Given the description of an element on the screen output the (x, y) to click on. 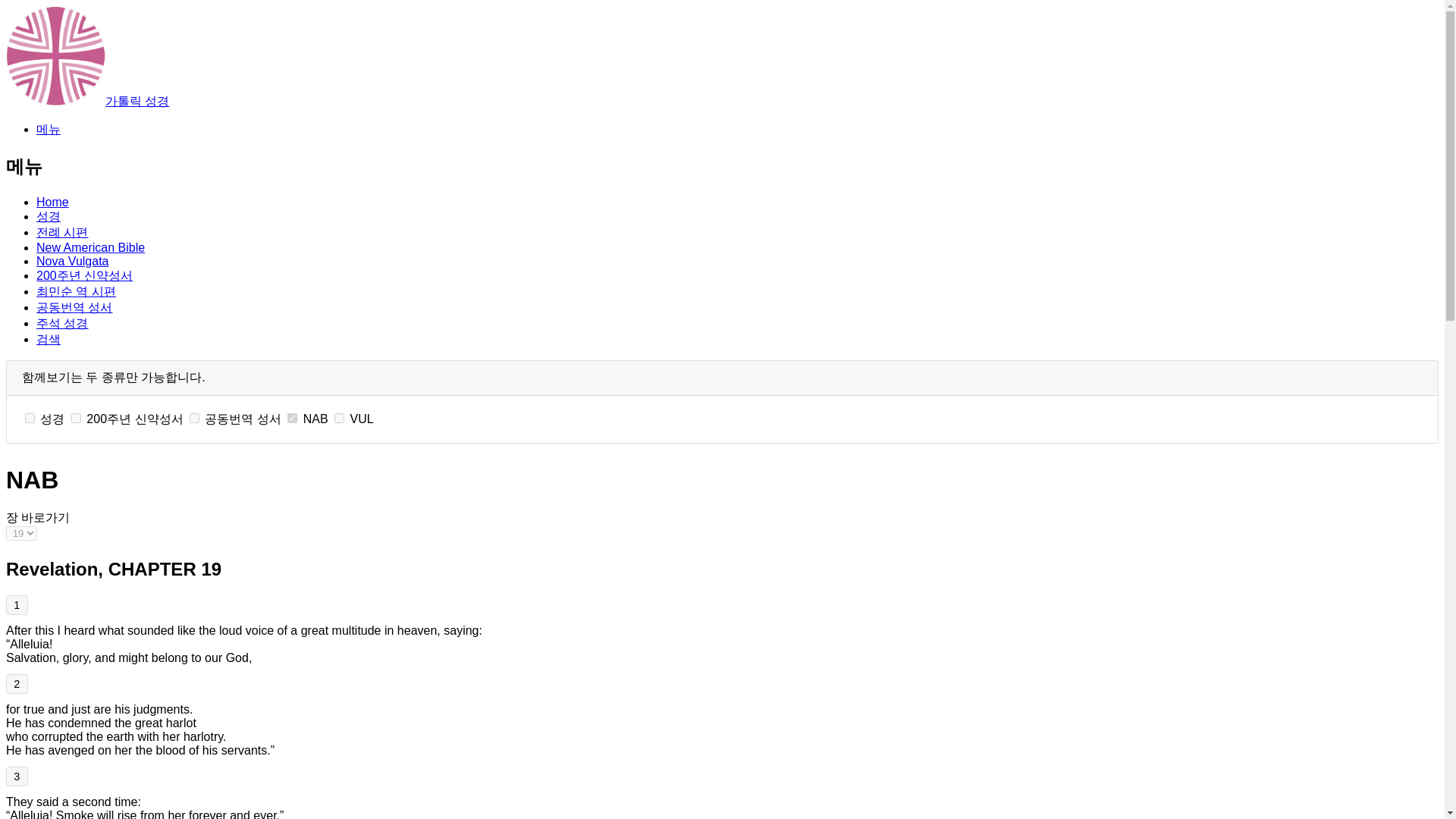
Home (52, 201)
on (29, 418)
on (291, 418)
on (194, 418)
on (338, 418)
on (76, 418)
New American Bible (90, 246)
Nova Vulgata (71, 260)
